Given the description of an element on the screen output the (x, y) to click on. 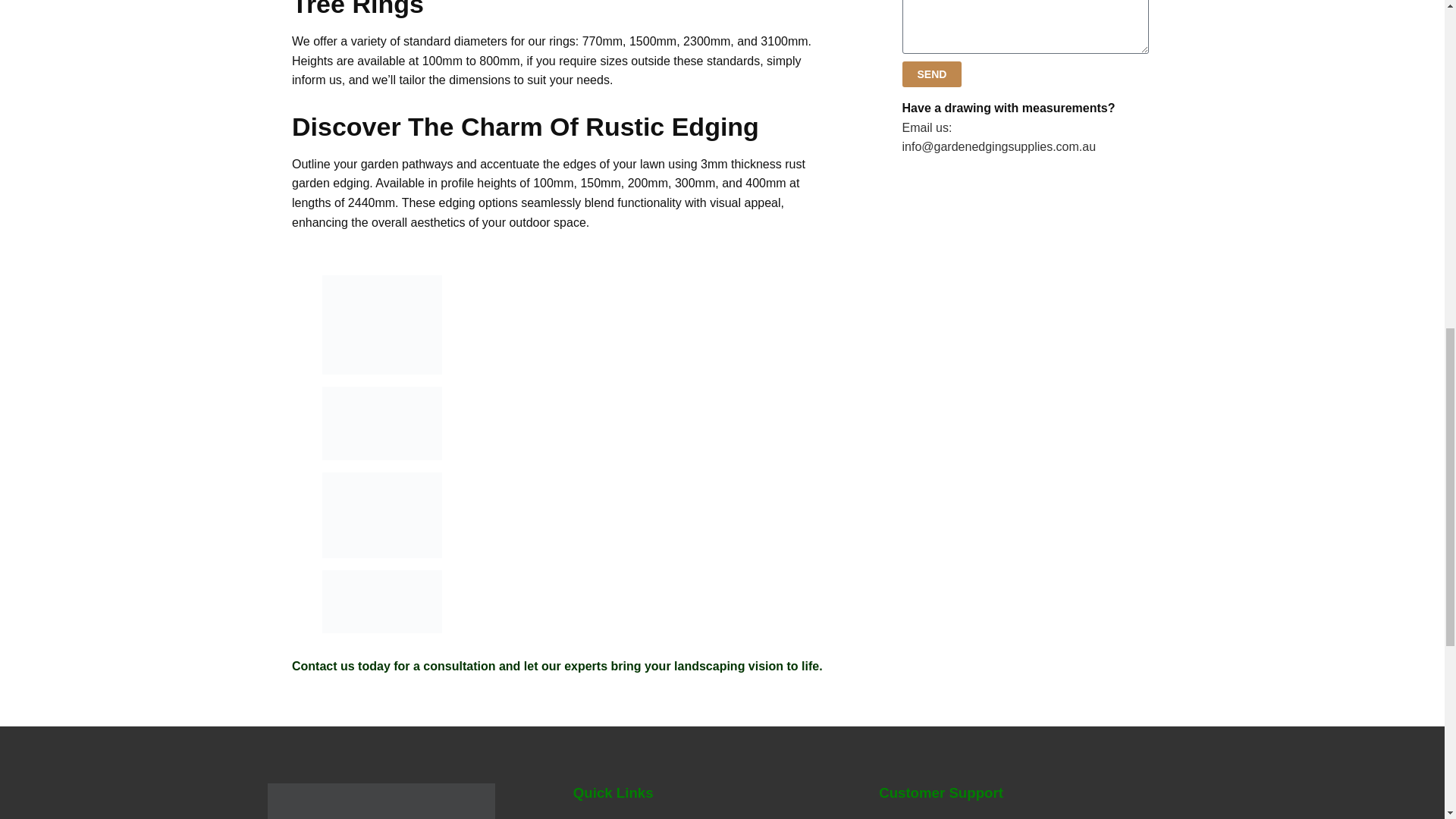
SEND (932, 73)
